Given the description of an element on the screen output the (x, y) to click on. 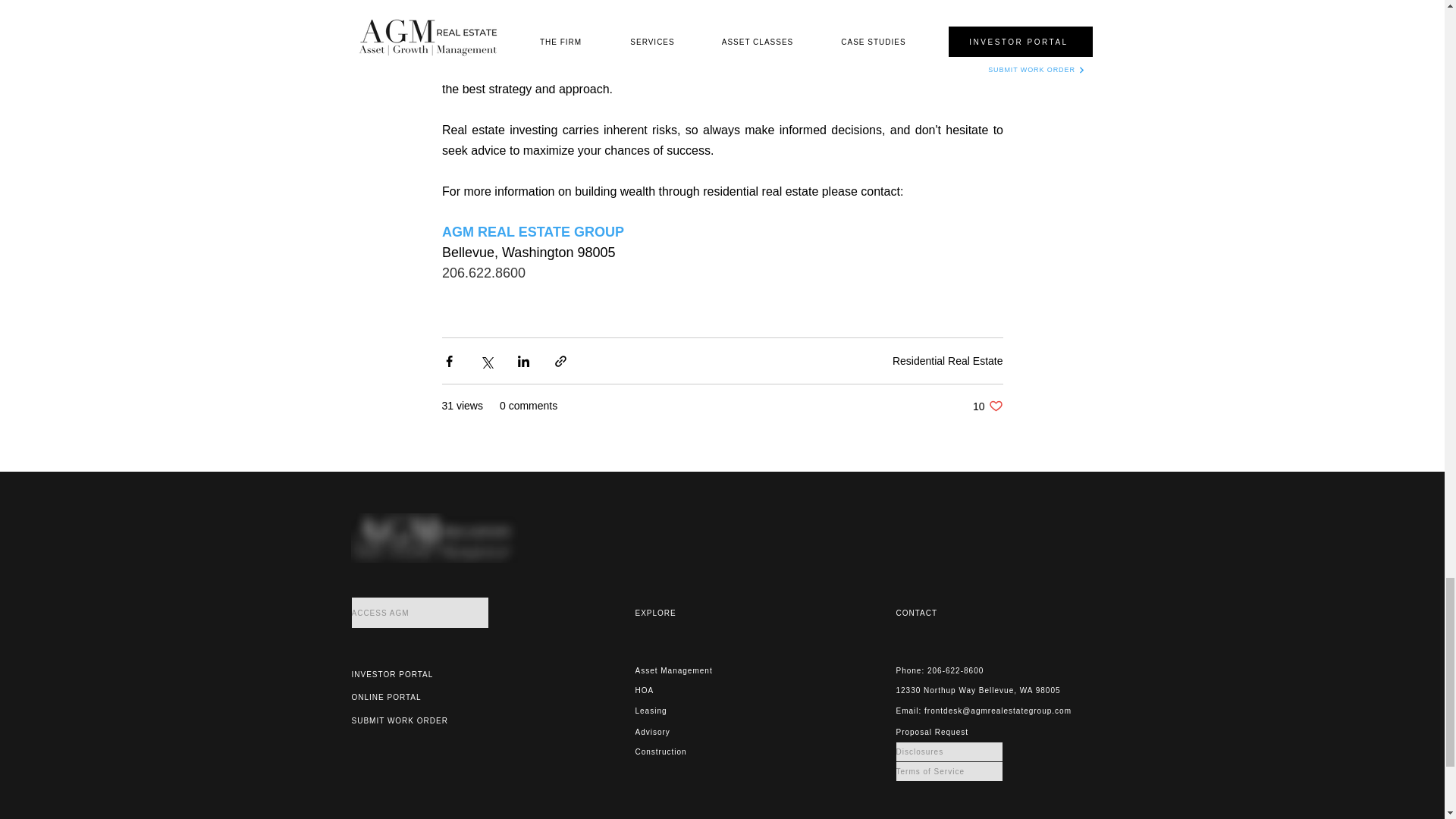
Phone: 206-622-8600 (949, 670)
Proposal Request (949, 732)
HOA (687, 690)
Advisory (687, 732)
EXPLORE (702, 612)
ONLINE PORTAL (405, 696)
Construction (687, 751)
ACCESS AGM (419, 612)
Leasing (687, 710)
12330 Northup Way Bellevue, WA 98005 (987, 690)
CONTACT (964, 612)
SUBMIT WORK ORDER (405, 720)
Asset Management (987, 405)
Terms of Service (687, 670)
